Given the description of an element on the screen output the (x, y) to click on. 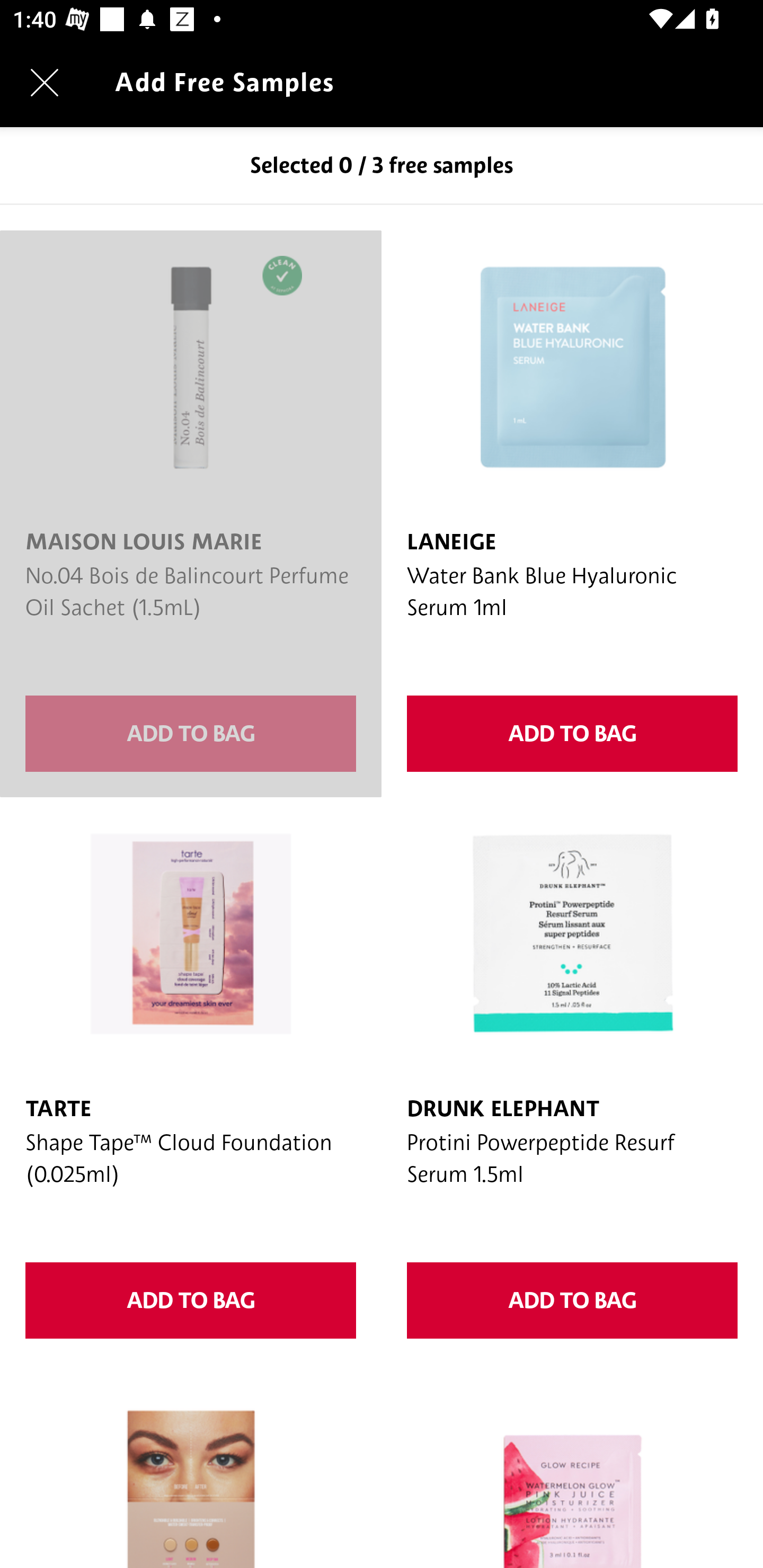
Navigate up (44, 82)
ADD TO BAG (571, 733)
ADD TO BAG (190, 1300)
ADD TO BAG (571, 1300)
